Given the description of an element on the screen output the (x, y) to click on. 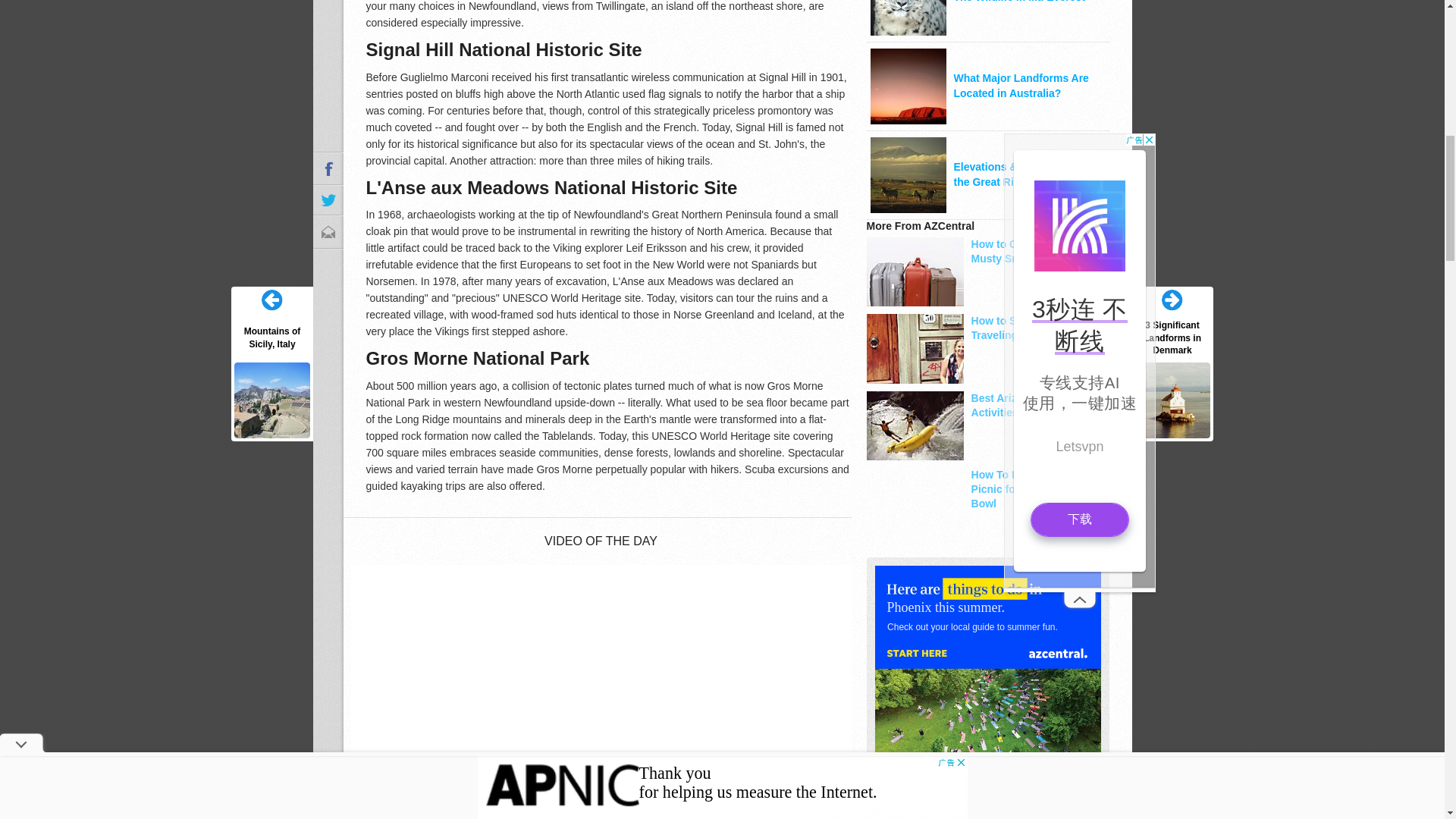
How To Pack a Gourmet Picnic for the Hollywood Bowl (987, 489)
Best Arizona Water Activities (987, 405)
How to Stay Safe While Traveling (987, 328)
How to Get Rid of the Musty Smell in a Suitcase (987, 251)
